Given the description of an element on the screen output the (x, y) to click on. 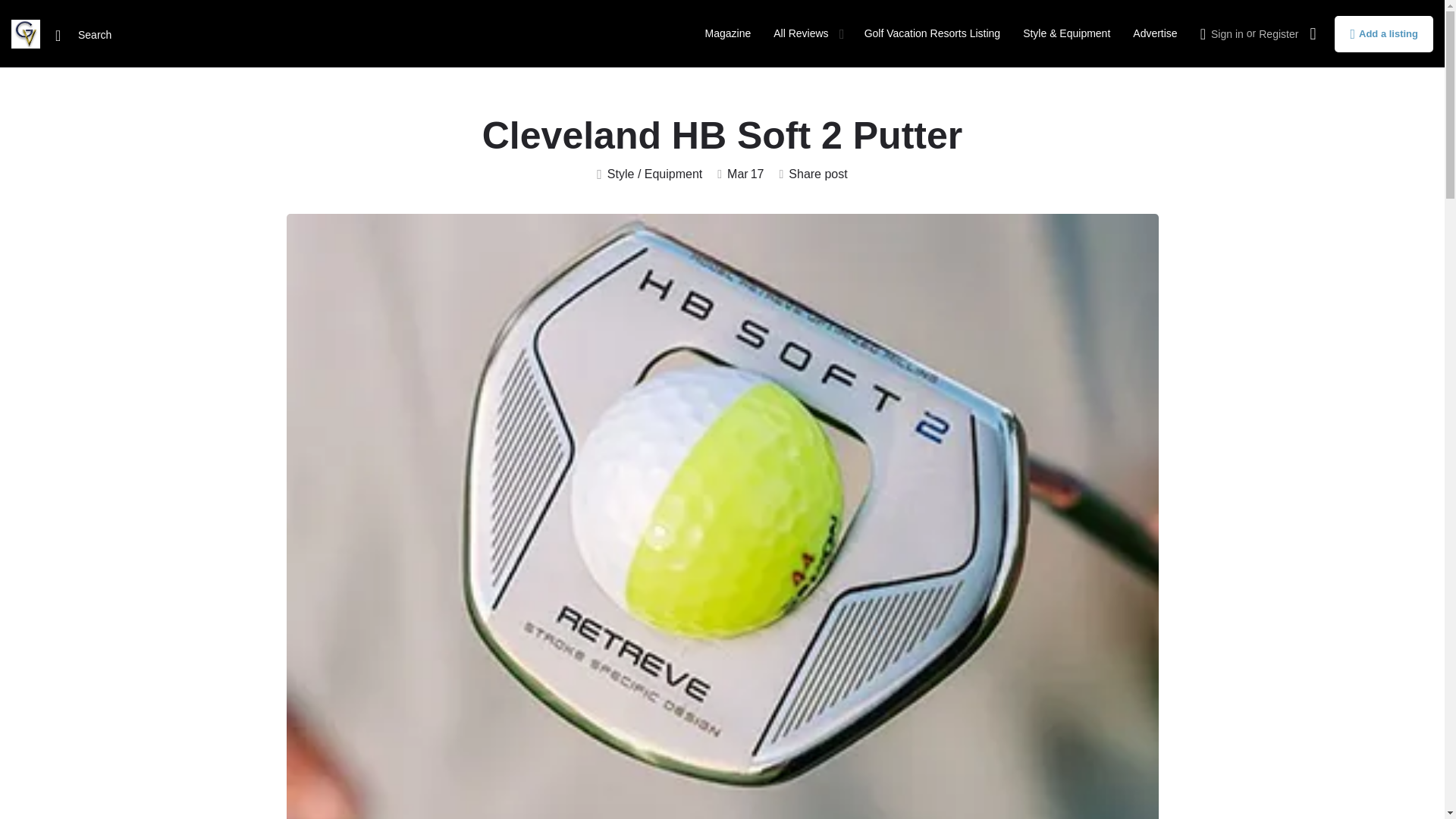
Advertise (1154, 32)
Sign in (1227, 33)
Golf Vacation Resorts Listing (932, 32)
All Reviews (800, 32)
Register (1278, 33)
Add a listing (1383, 33)
Magazine (727, 32)
Share post (812, 174)
